Given the description of an element on the screen output the (x, y) to click on. 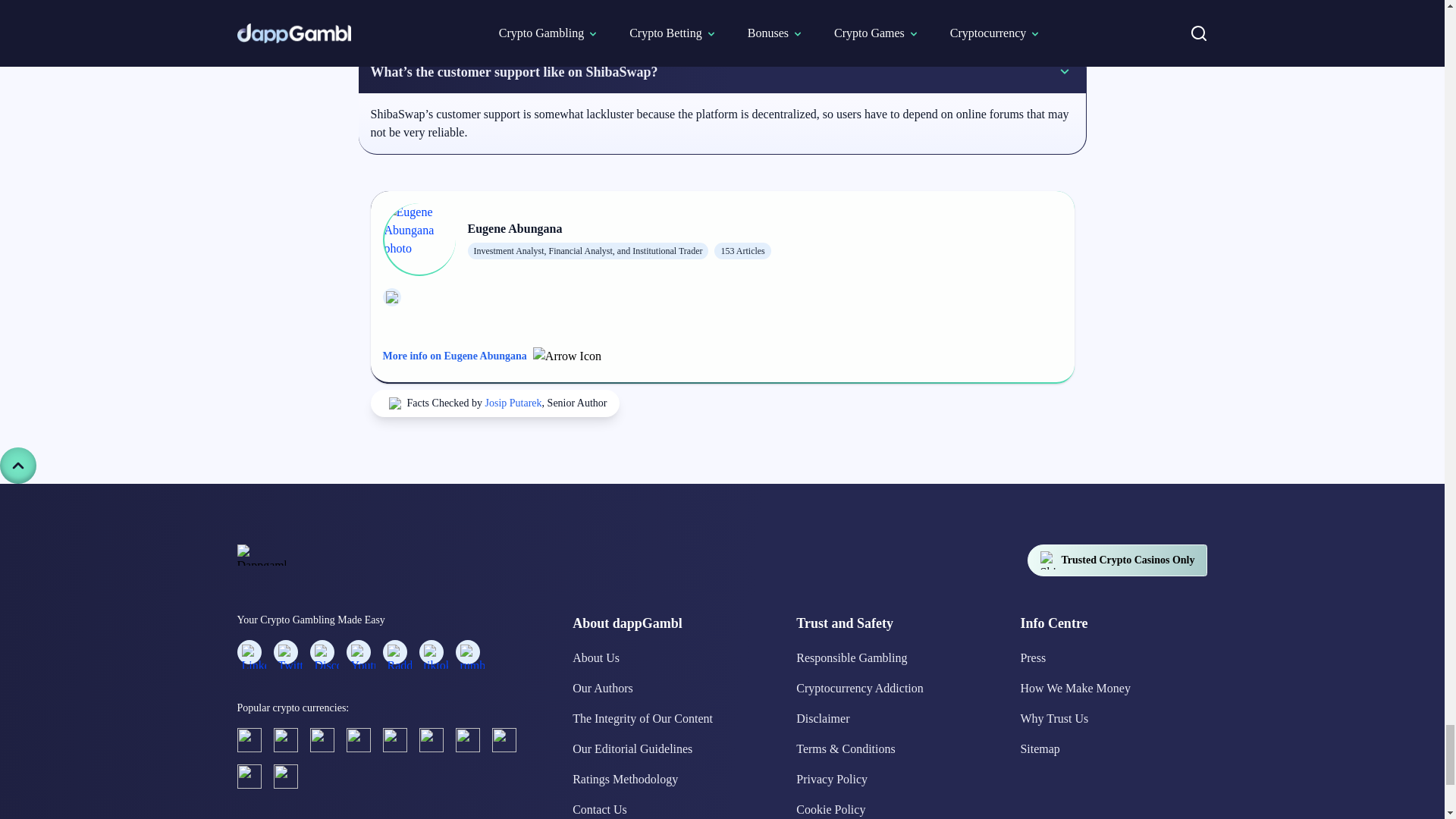
Verified Icon (394, 403)
